Given the description of an element on the screen output the (x, y) to click on. 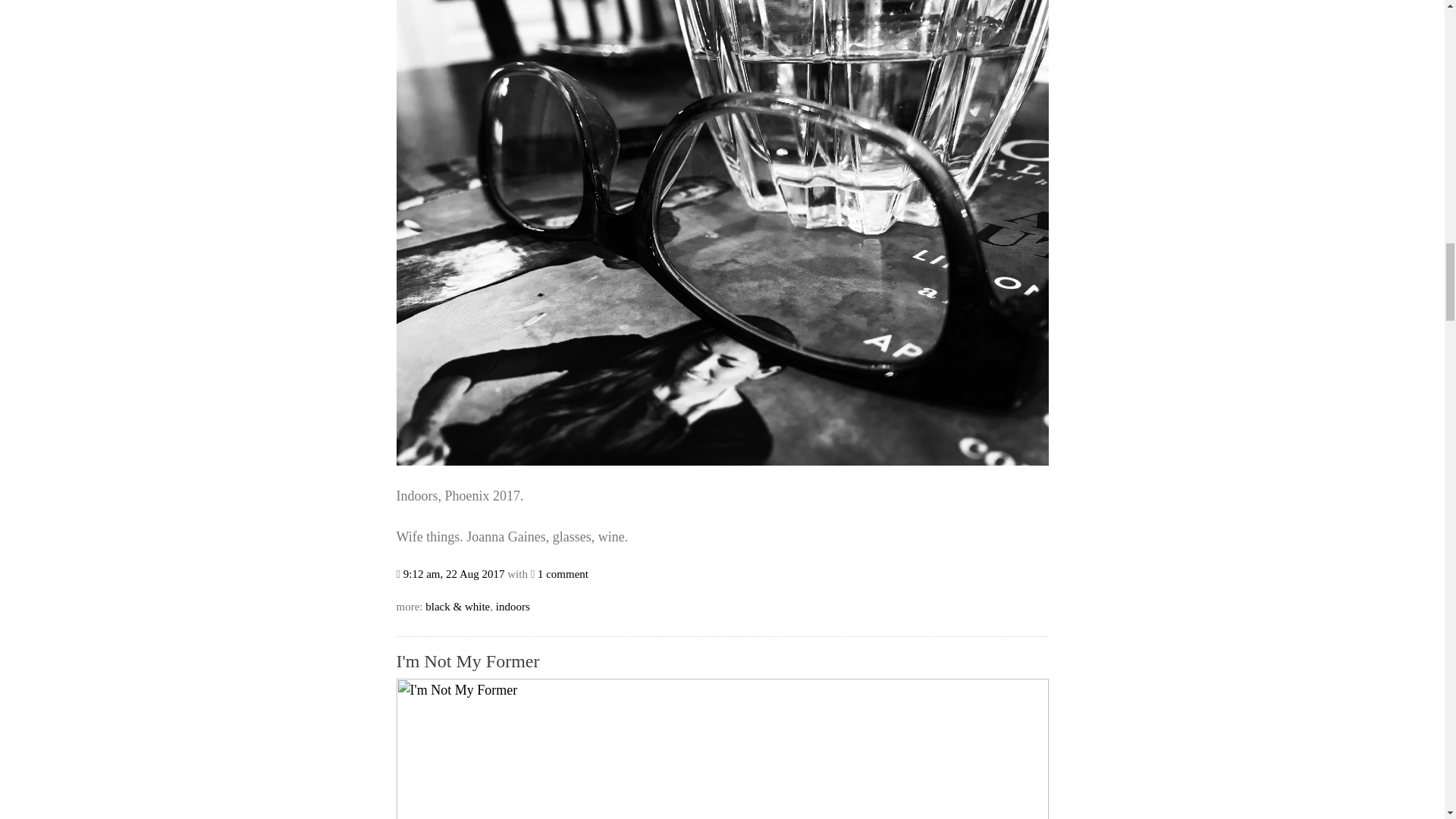
indoors (512, 606)
I'm Not My Former (467, 660)
I'm Not My Former (467, 660)
1 comment (562, 573)
Permanent Link to See You (454, 573)
9:12 am, 22 Aug 2017 (454, 573)
See You (722, 460)
